Given the description of an element on the screen output the (x, y) to click on. 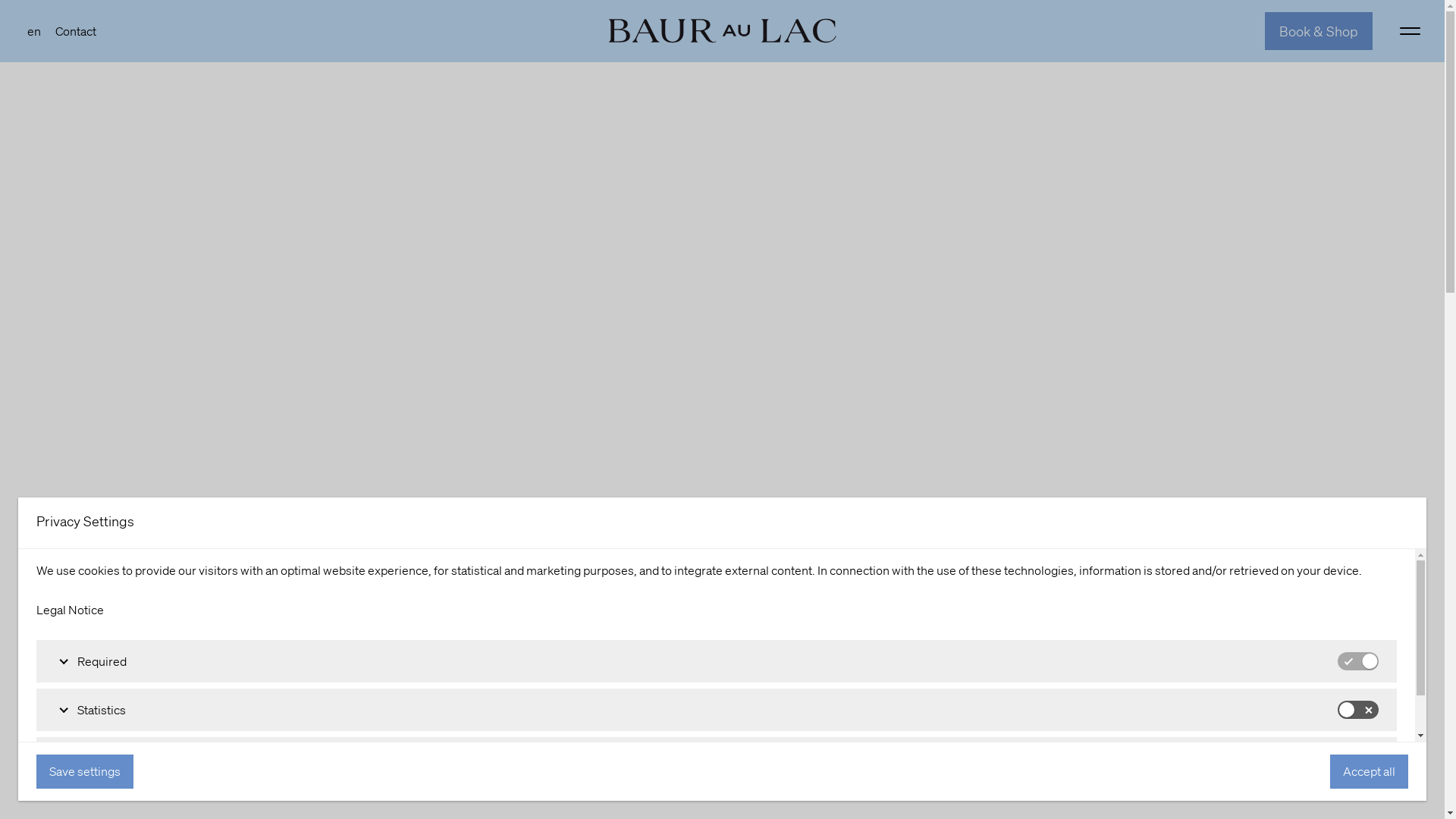
Statistics Element type: text (716, 709)
Book & Shop Element type: text (1318, 31)
Accept all Element type: text (1369, 771)
en Element type: text (33, 30)
Marketing Element type: text (716, 758)
Baur au Lac Element type: hover (721, 31)
Legal Notice Element type: text (69, 609)
open Menu Element type: text (1409, 31)
Required Element type: text (716, 661)
Contact Element type: text (75, 30)
Save settings Element type: text (84, 771)
